Given the description of an element on the screen output the (x, y) to click on. 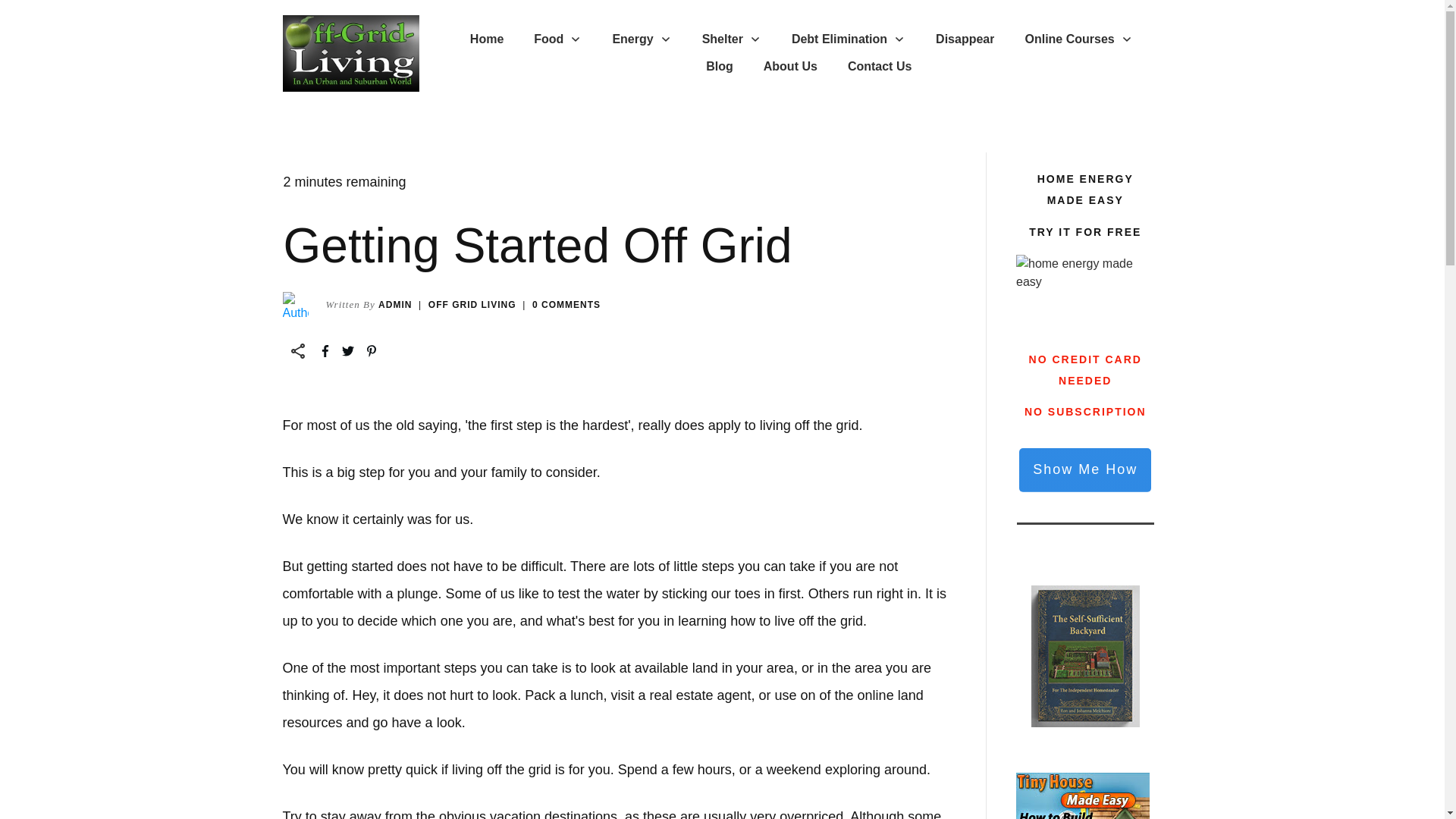
udemy-course-graphic (1085, 293)
Home (486, 39)
Off Grid Living (472, 304)
Shelter (731, 39)
undefined (294, 304)
tiny house (1083, 796)
admin (395, 304)
Energy (641, 39)
Food (557, 39)
